Given the description of an element on the screen output the (x, y) to click on. 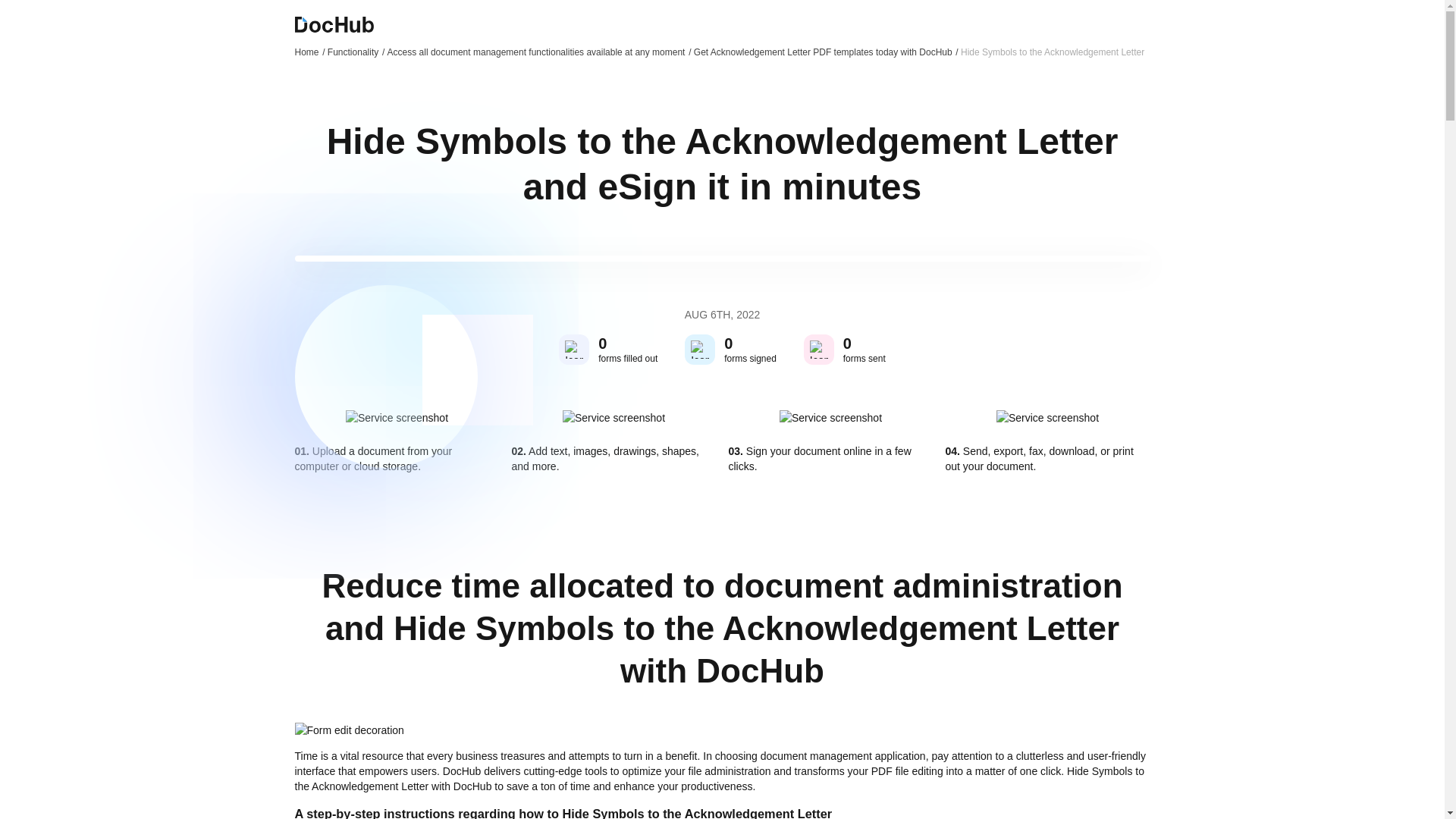
Home (309, 51)
Get Acknowledgement Letter PDF templates today with DocHub (826, 51)
Functionality (355, 51)
